Given the description of an element on the screen output the (x, y) to click on. 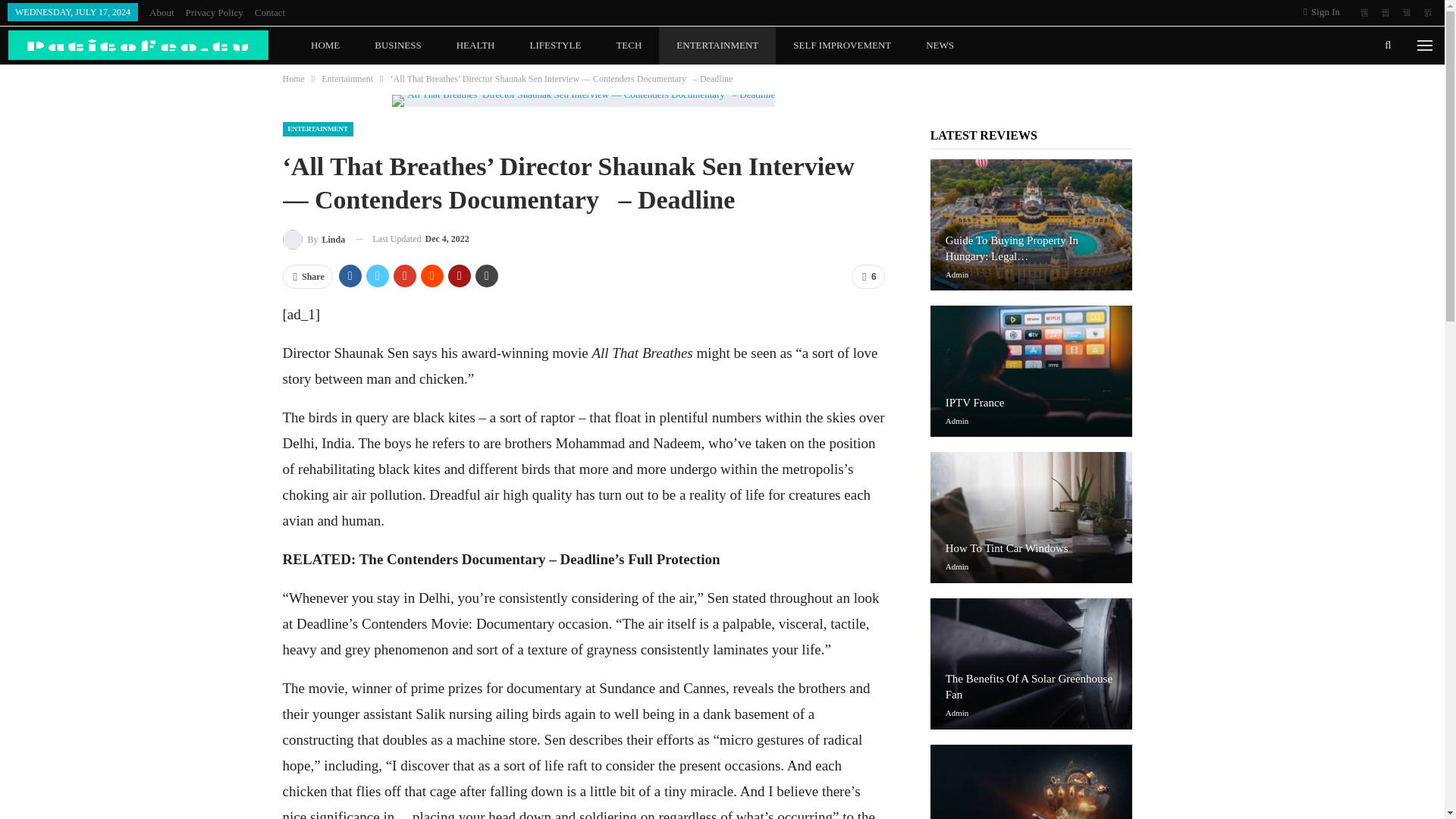
Browse Author Articles (313, 239)
